Given the description of an element on the screen output the (x, y) to click on. 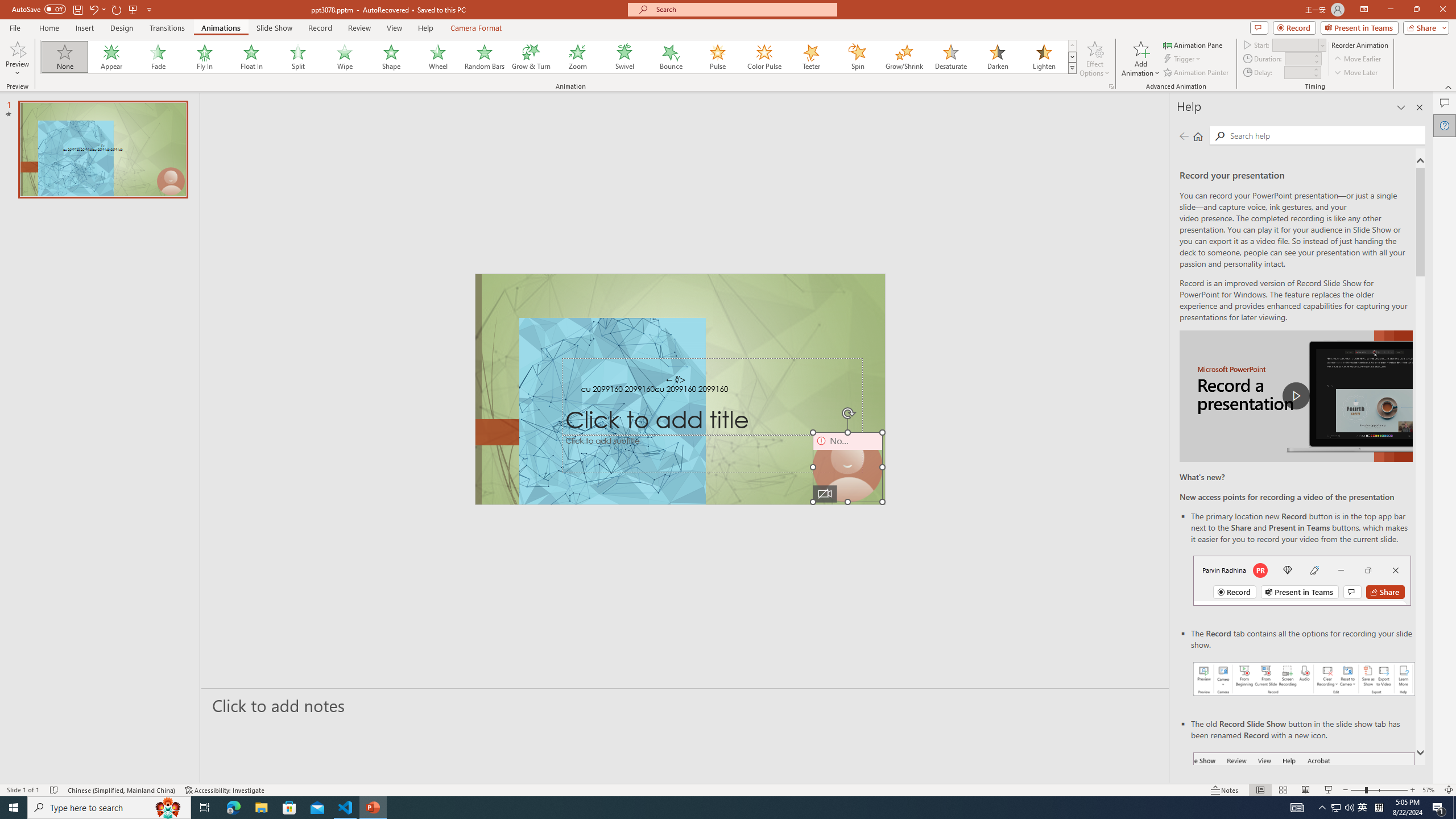
Split (298, 56)
Move Earlier (1357, 58)
Camera Format (475, 28)
